Given the description of an element on the screen output the (x, y) to click on. 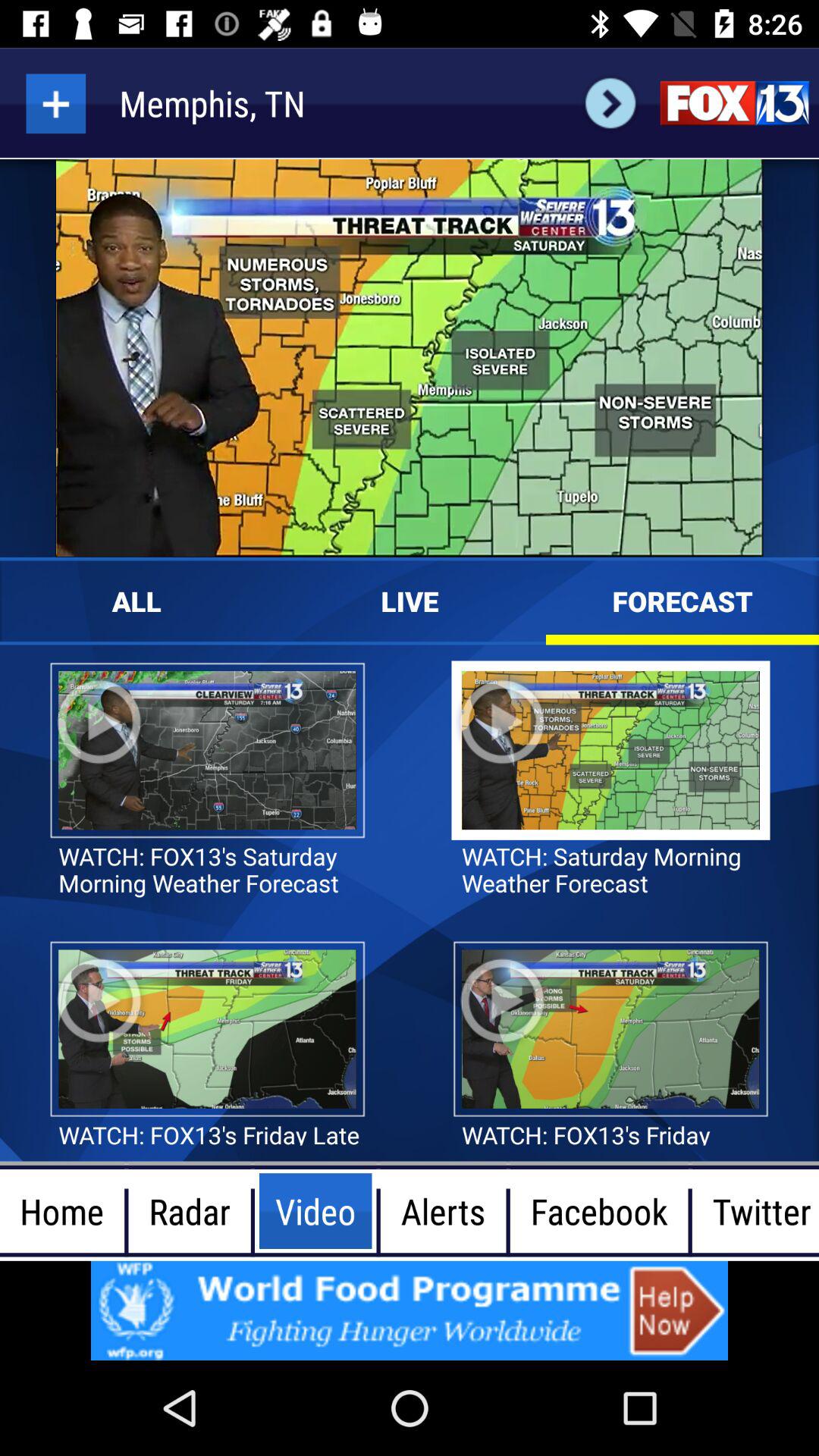
click on the second option in menu bar (189, 1210)
select the tab facebook on the web page (599, 1210)
click on the button next to live (409, 601)
click the play button above the text watchfox 13s friday on the web page (502, 1000)
click on image below all (207, 750)
